Given the description of an element on the screen output the (x, y) to click on. 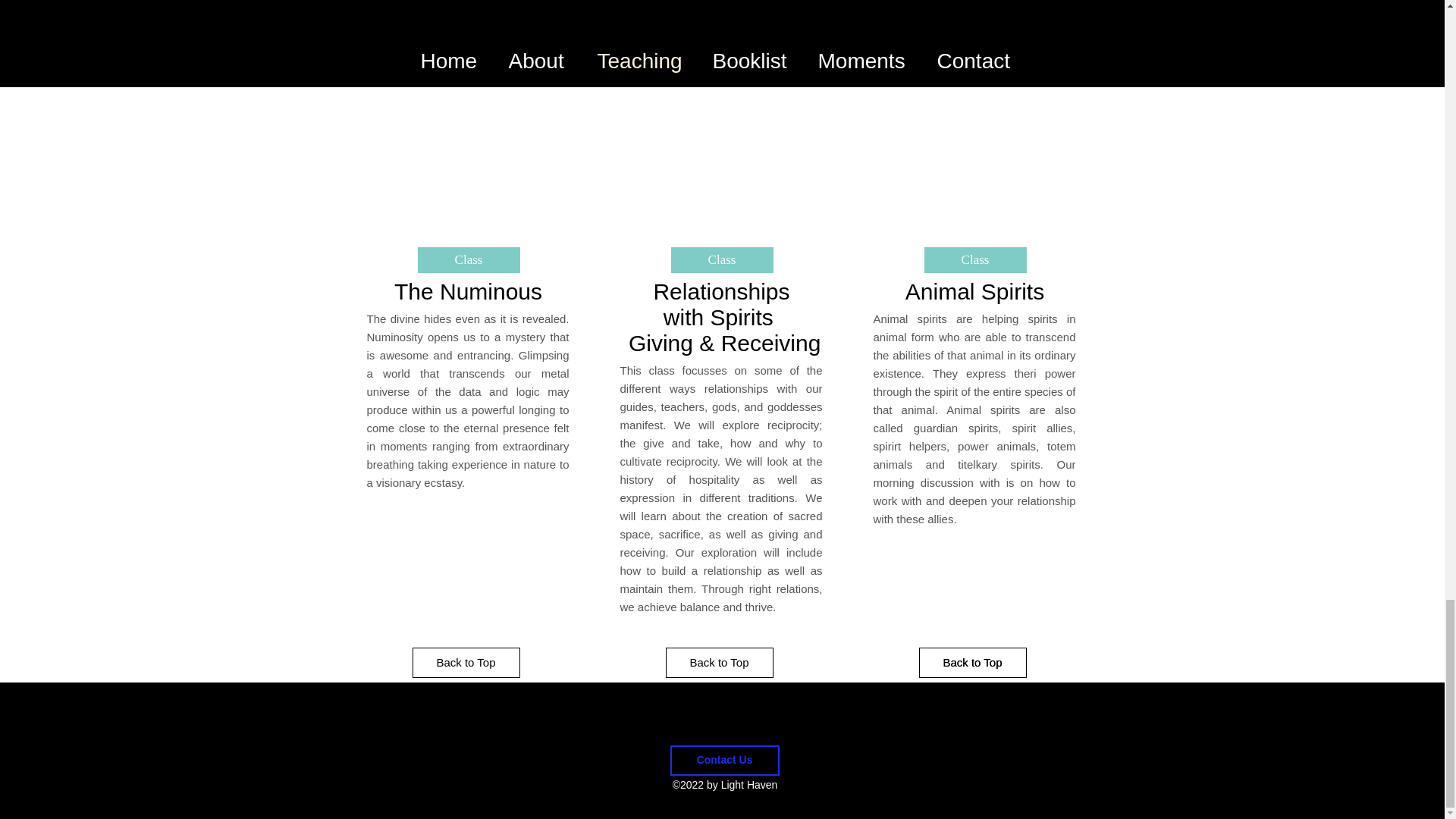
Back to Top (719, 662)
Contact Us (723, 760)
Back to Top (972, 662)
Back to Top (465, 662)
